Given the description of an element on the screen output the (x, y) to click on. 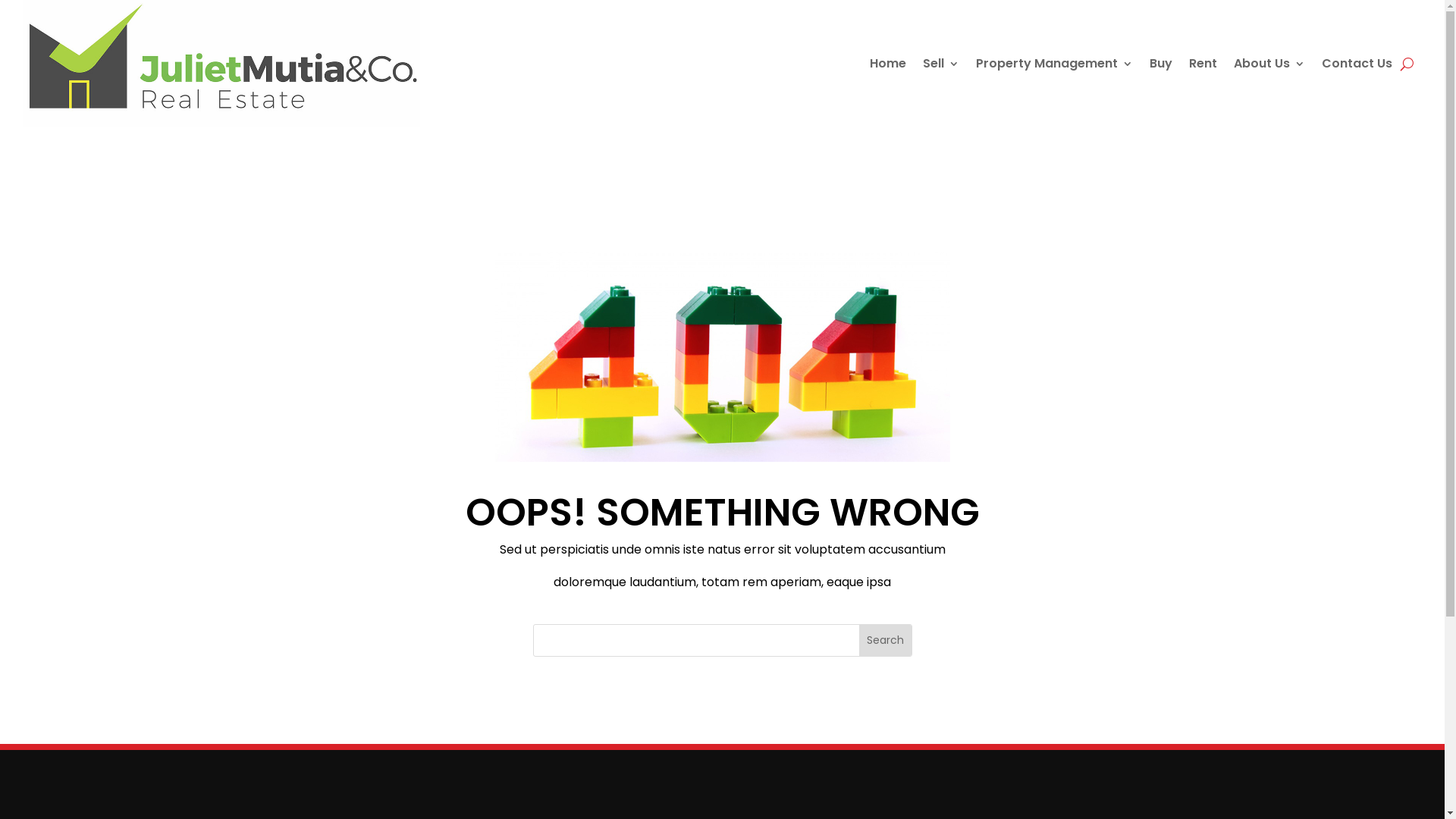
Sell Element type: text (940, 63)
Rent Element type: text (1203, 63)
Home Element type: text (887, 63)
Search Element type: text (884, 639)
Buy Element type: text (1160, 63)
Property Management Element type: text (1053, 63)
Contact Us Element type: text (1356, 63)
About Us Element type: text (1269, 63)
